Given the description of an element on the screen output the (x, y) to click on. 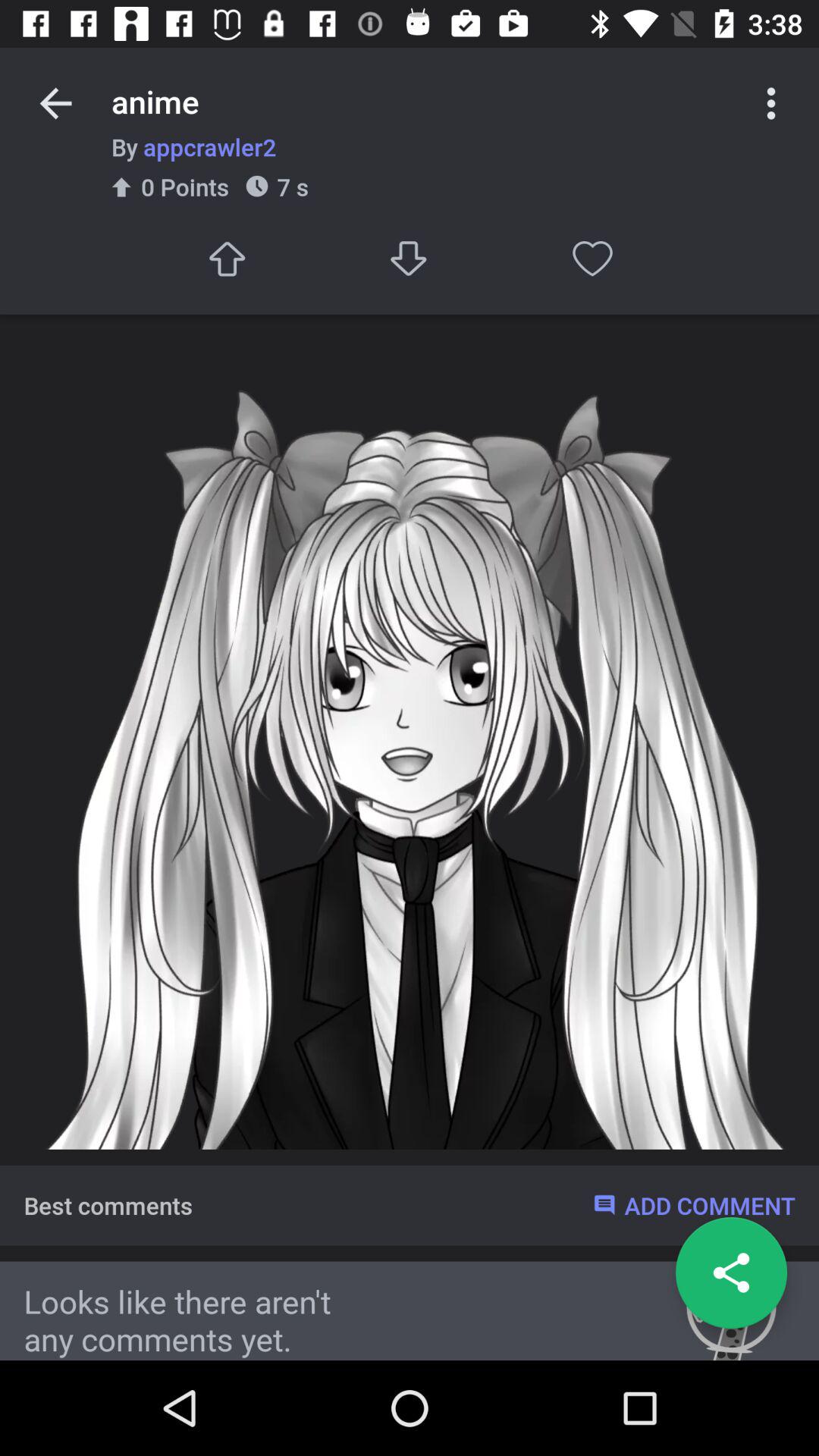
view more options (771, 103)
